Given the description of an element on the screen output the (x, y) to click on. 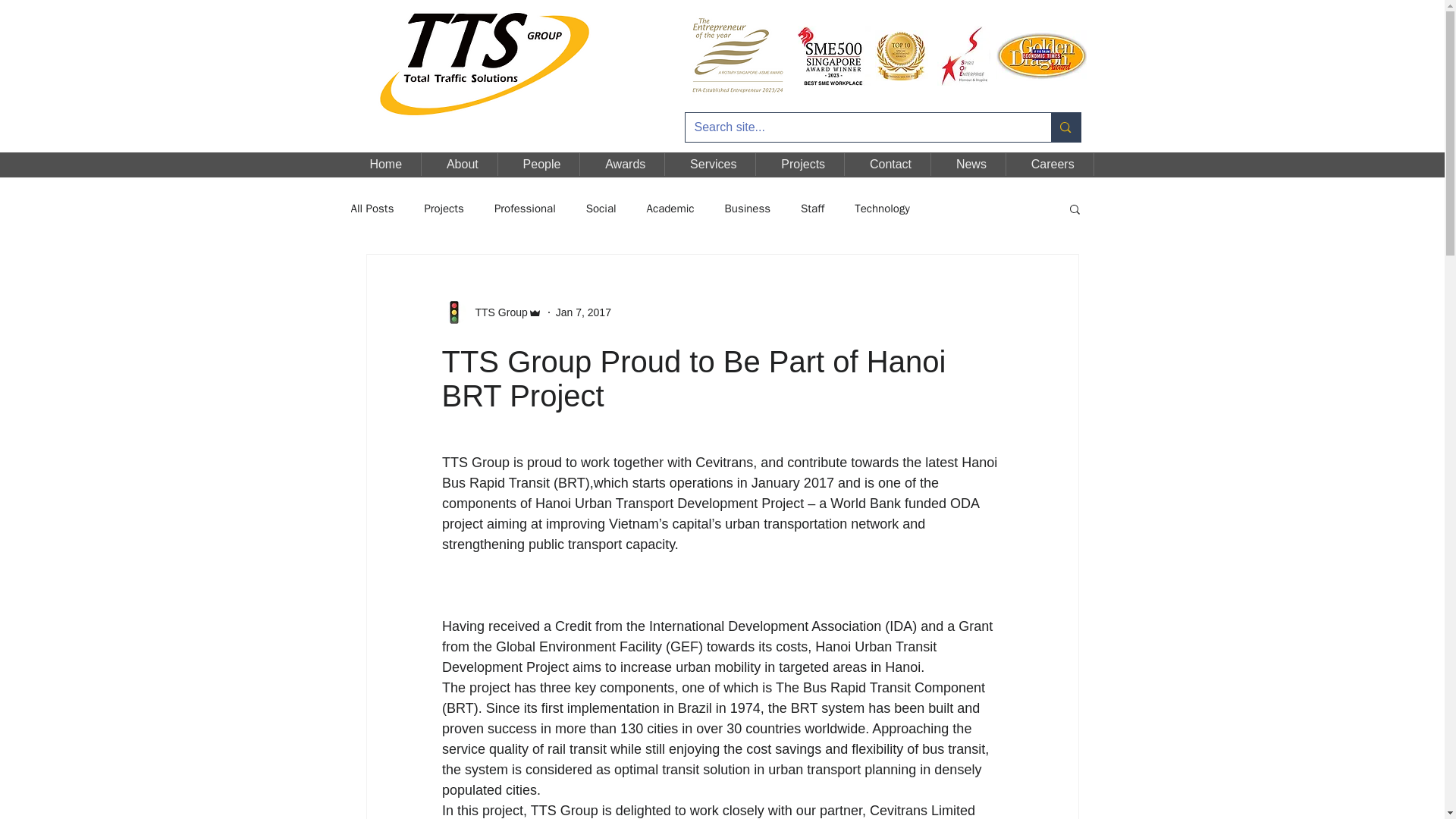
Projects (443, 208)
Home (484, 67)
All Posts (371, 208)
Professional (525, 208)
Business (748, 208)
People (541, 164)
Social (600, 208)
News (971, 164)
Services (713, 164)
Technology (882, 208)
Contact (890, 164)
Academic (670, 208)
Projects (802, 164)
Home (386, 164)
TTS Group (496, 312)
